Given the description of an element on the screen output the (x, y) to click on. 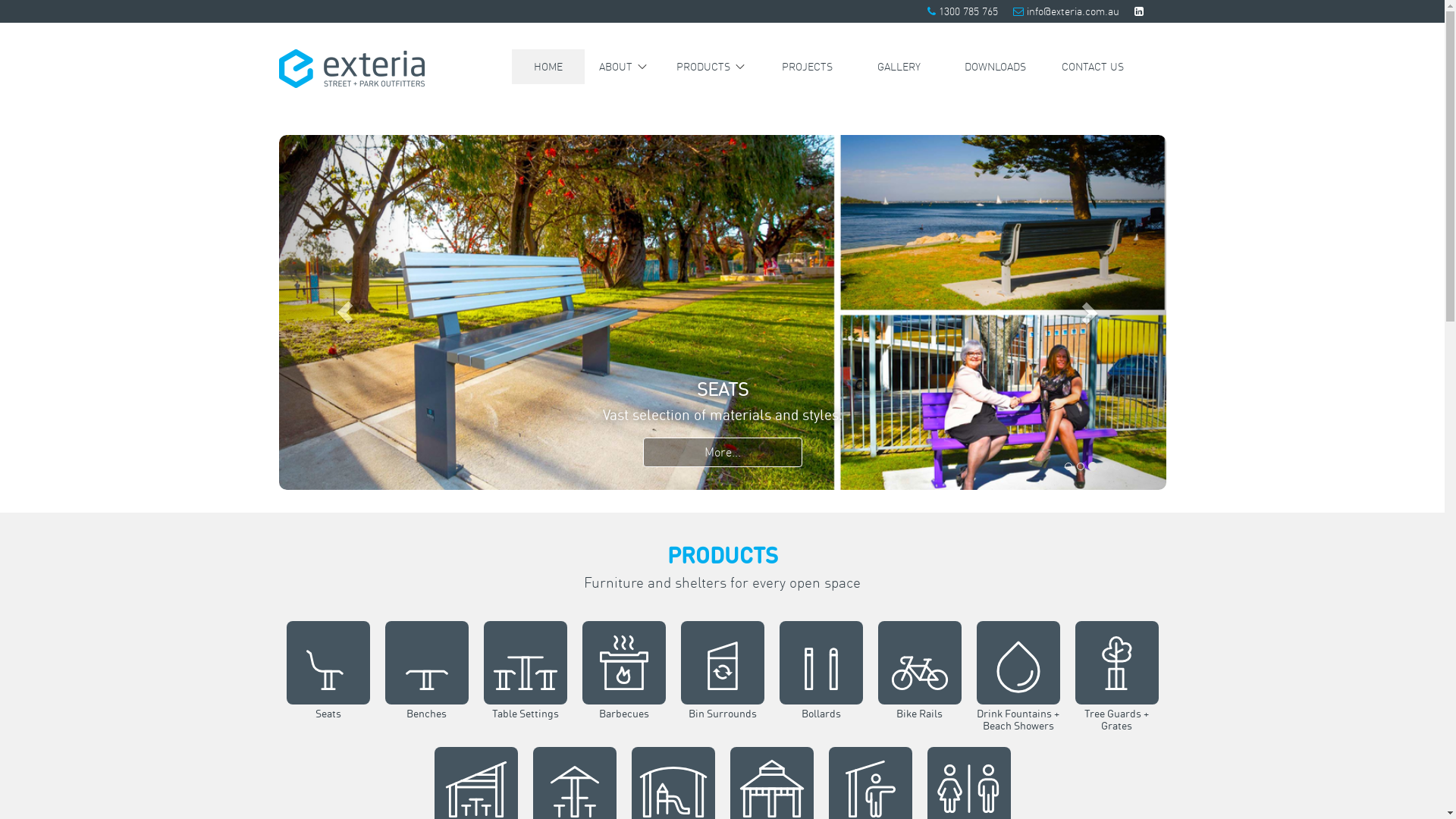
HOME Element type: text (547, 66)
Home Element type: hover (351, 67)
info@exteria.com.au Element type: text (1072, 11)
Bollards Element type: text (820, 724)
More... Element type: text (722, 452)
Drink Fountains + Beach Showers Element type: text (1018, 727)
PRODUCTS Element type: text (710, 66)
1300 785 765 Element type: text (967, 11)
Bike Rails Element type: text (919, 724)
Seats Element type: hover (722, 311)
Bin Surrounds Element type: text (722, 724)
ABOUT Element type: text (623, 66)
PROJECTS Element type: text (806, 66)
DOWNLOADS Element type: text (995, 66)
GALLERY Element type: text (898, 66)
Barbecues Element type: text (623, 724)
CONTACT US Element type: text (1092, 66)
Tree Guards + Grates Element type: text (1116, 727)
Seats Element type: text (328, 724)
Table Settings Element type: text (525, 724)
Benches Element type: text (426, 724)
